Given the description of an element on the screen output the (x, y) to click on. 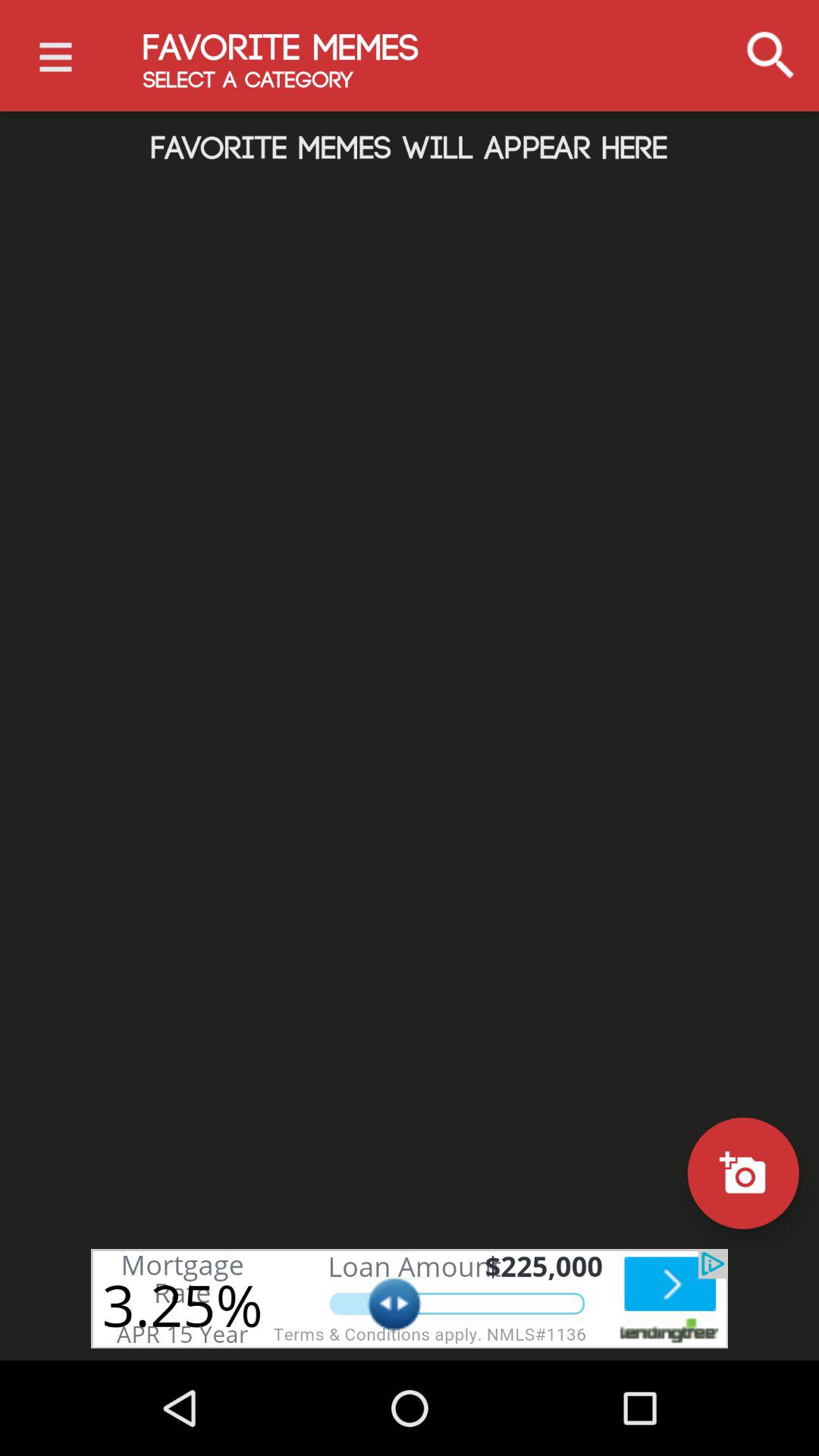
add a photo (743, 1173)
